Given the description of an element on the screen output the (x, y) to click on. 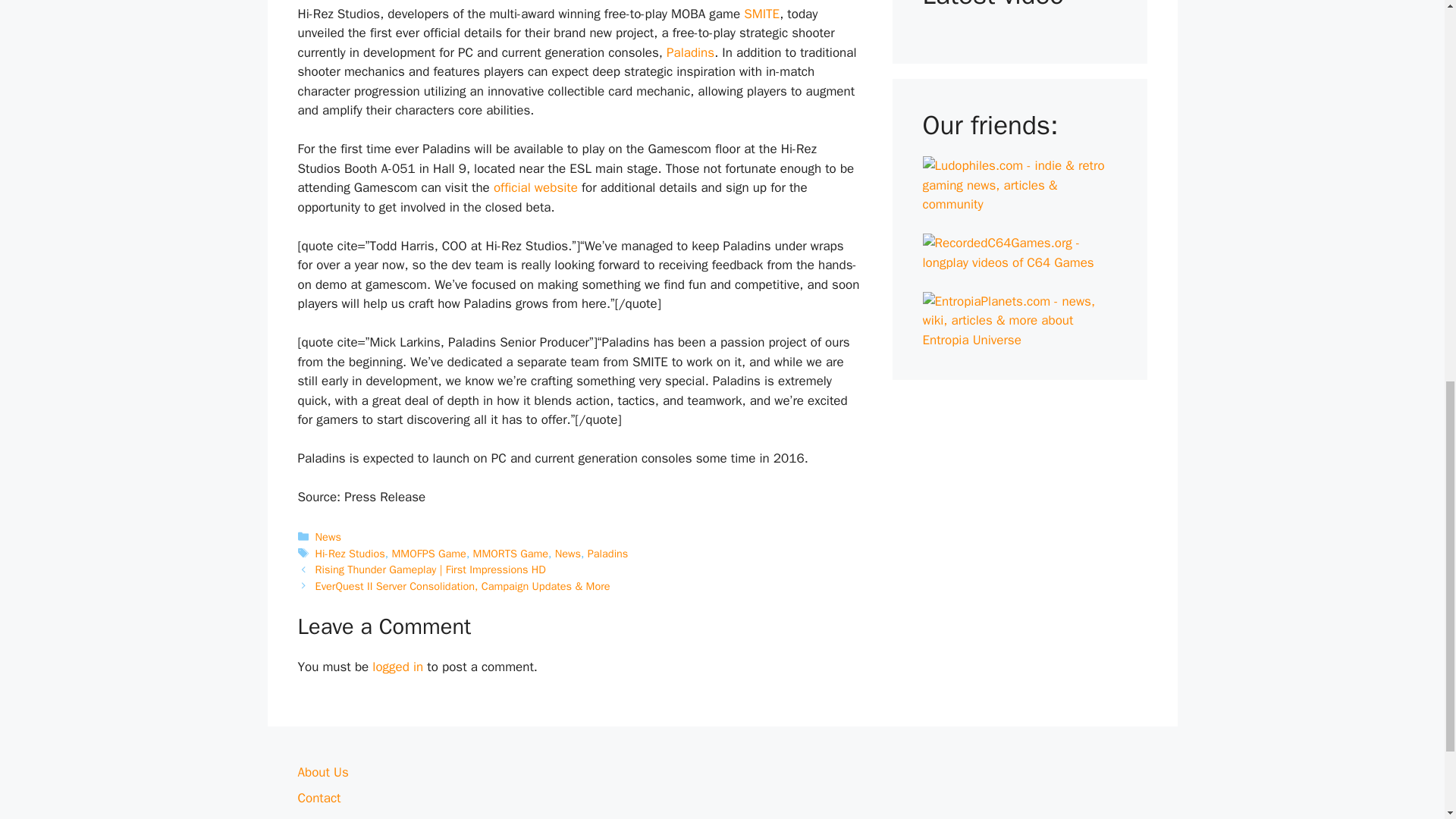
SMITE (761, 13)
News (327, 536)
SMITE (761, 13)
Hi-Rez Studios (350, 552)
Paladins Website (535, 187)
Paladins (690, 52)
Paladins (690, 52)
Scroll back to top (1406, 720)
official website (535, 187)
